Given the description of an element on the screen output the (x, y) to click on. 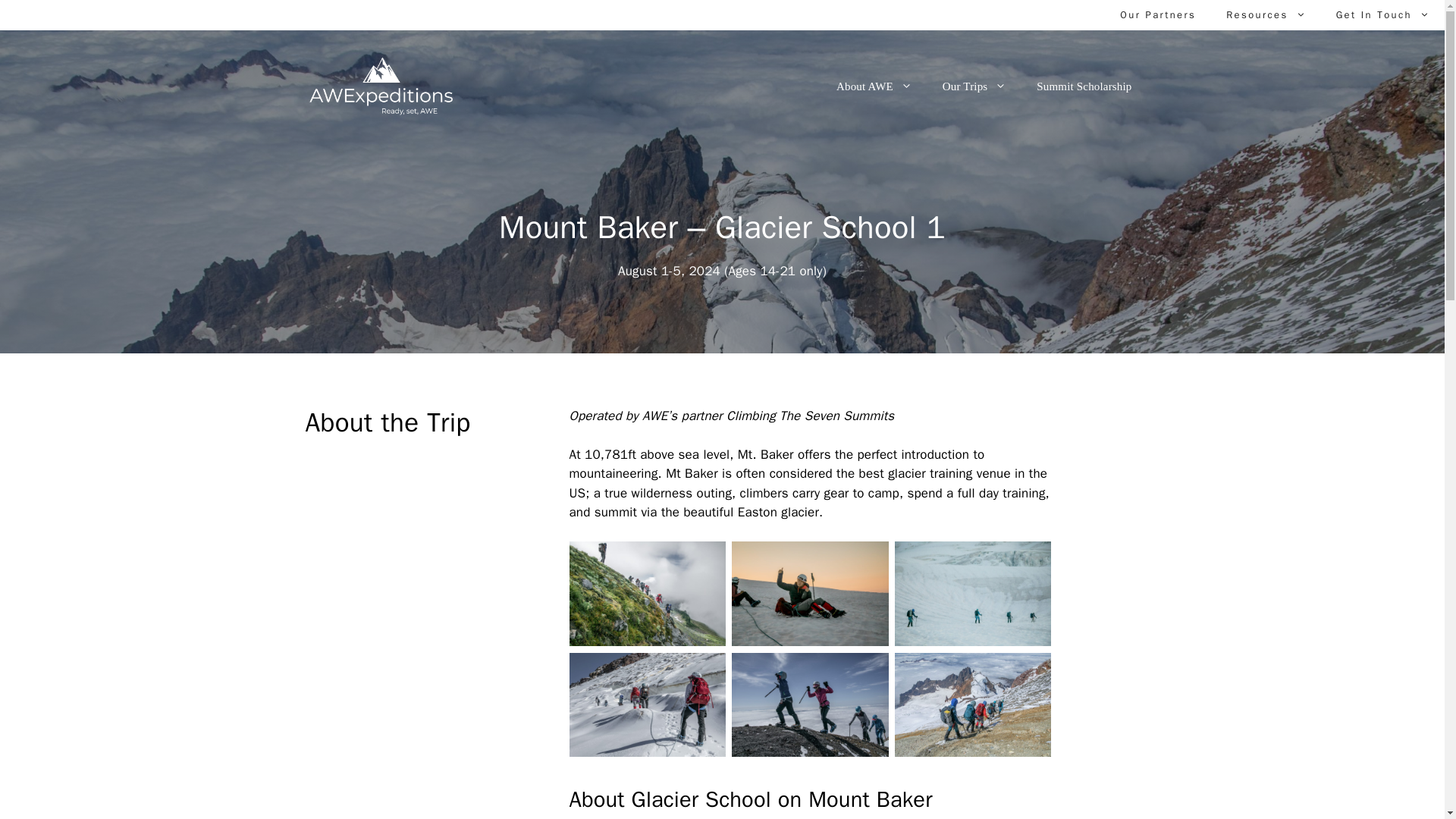
Resources (1265, 15)
Summit Scholarship (1084, 85)
Our Partners (1158, 15)
Our Trips (974, 85)
About AWE (874, 85)
